Given the description of an element on the screen output the (x, y) to click on. 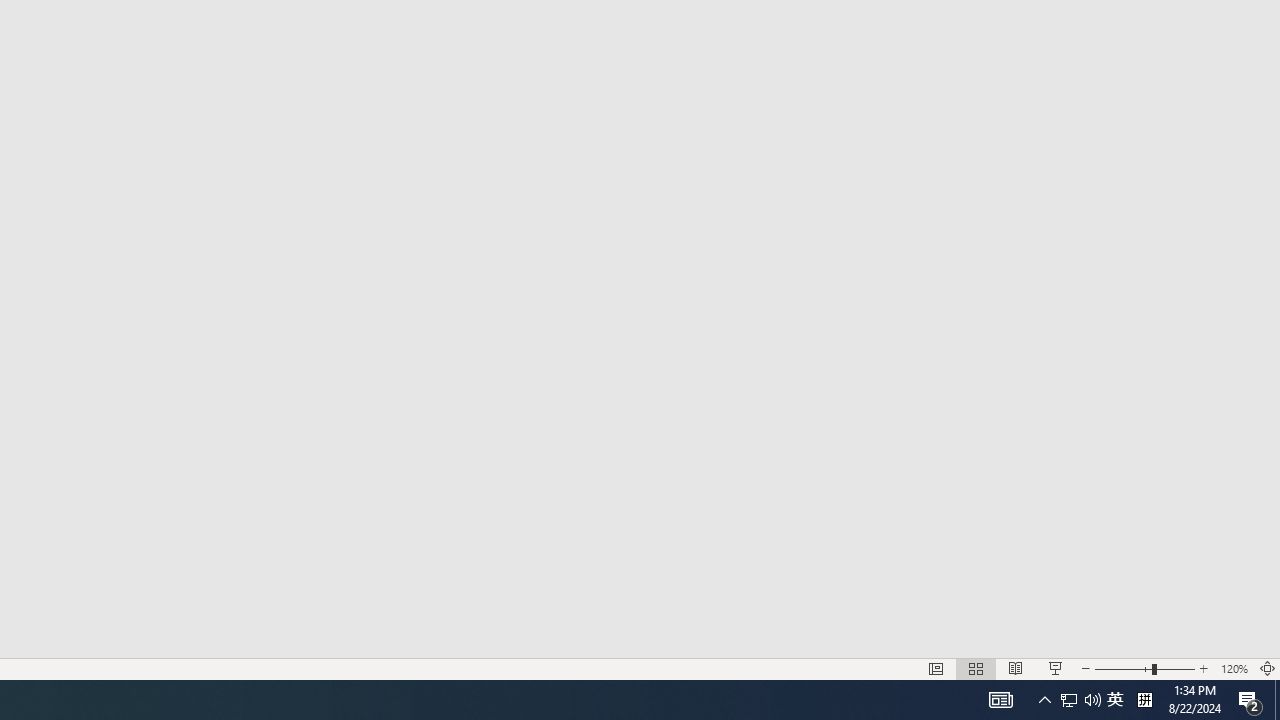
Zoom 120% (1234, 668)
